Given the description of an element on the screen output the (x, y) to click on. 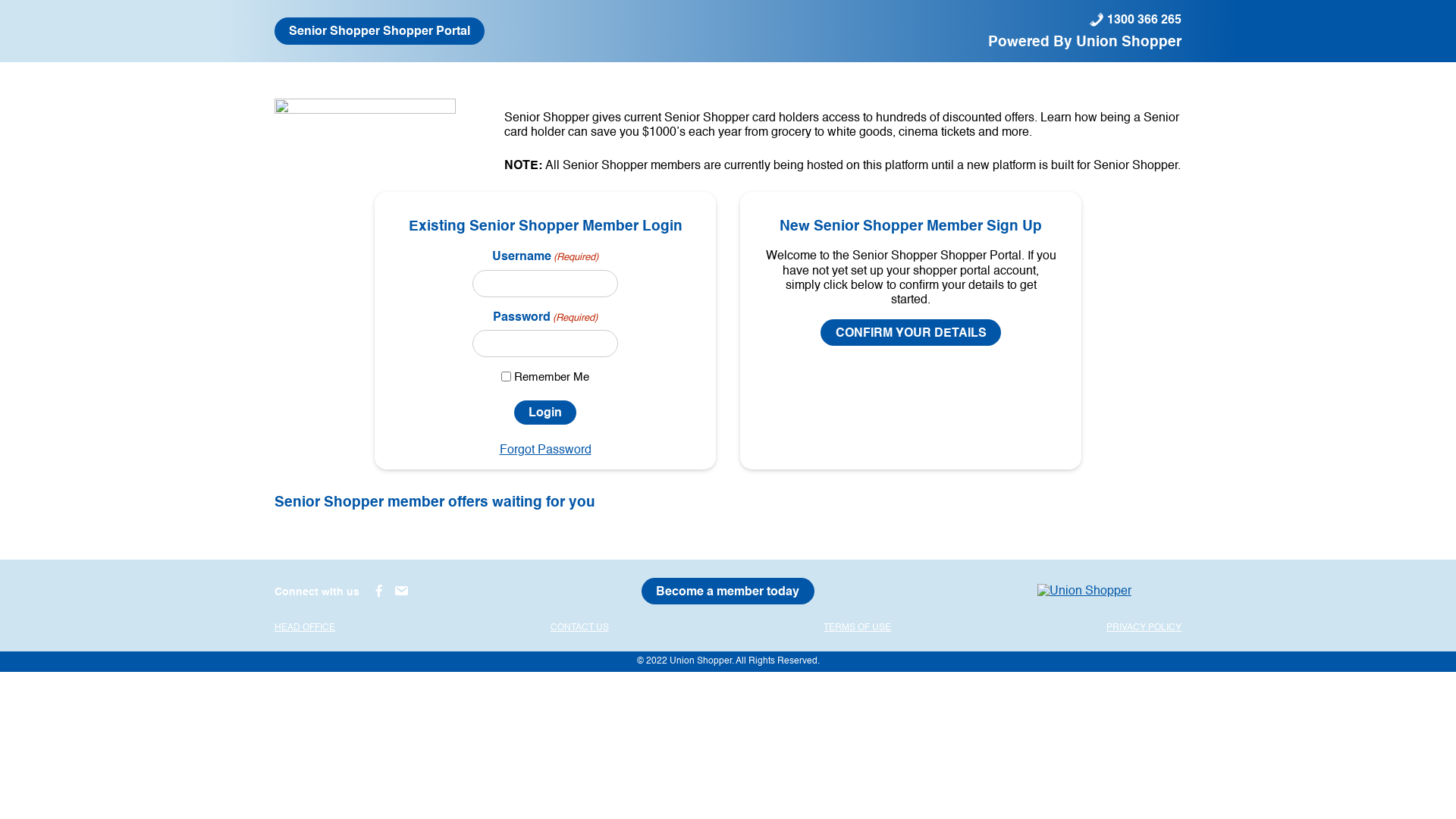
Become a member today Element type: text (727, 590)
CONTACT US Element type: text (579, 627)
Login Element type: text (545, 412)
1300 366 265 Element type: text (1134, 19)
HEAD OFFICE Element type: text (304, 627)
Senior Shopper Shopper Portal Element type: text (379, 30)
Powered By Union Shopper Element type: text (1084, 41)
Forgot Password Element type: text (544, 449)
TERMS OF USE Element type: text (857, 627)
PRIVACY POLICY Element type: text (1143, 627)
CONFIRM YOUR DETAILS Element type: text (910, 332)
